Given the description of an element on the screen output the (x, y) to click on. 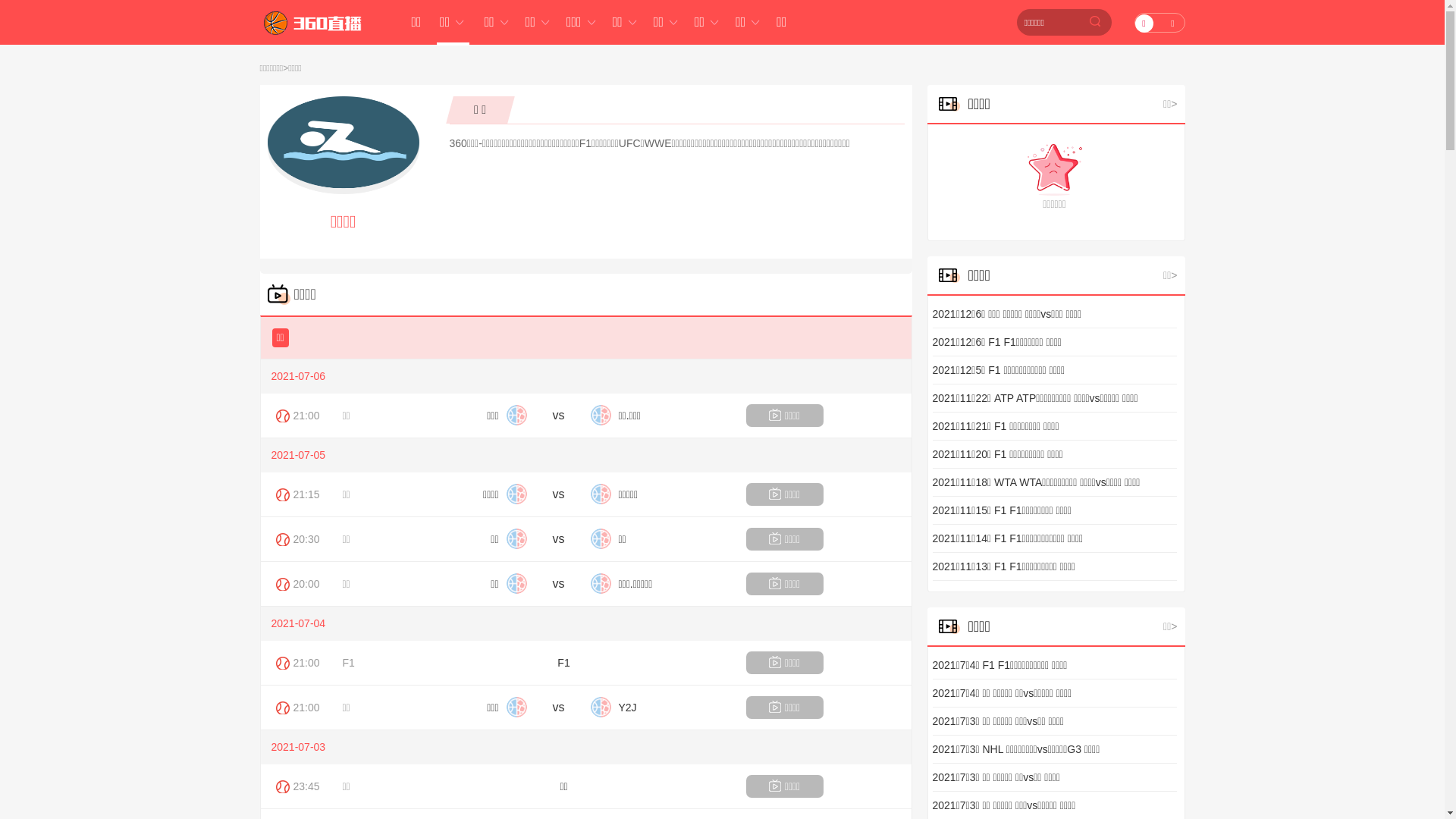
F1 Element type: text (348, 662)
